Given the description of an element on the screen output the (x, y) to click on. 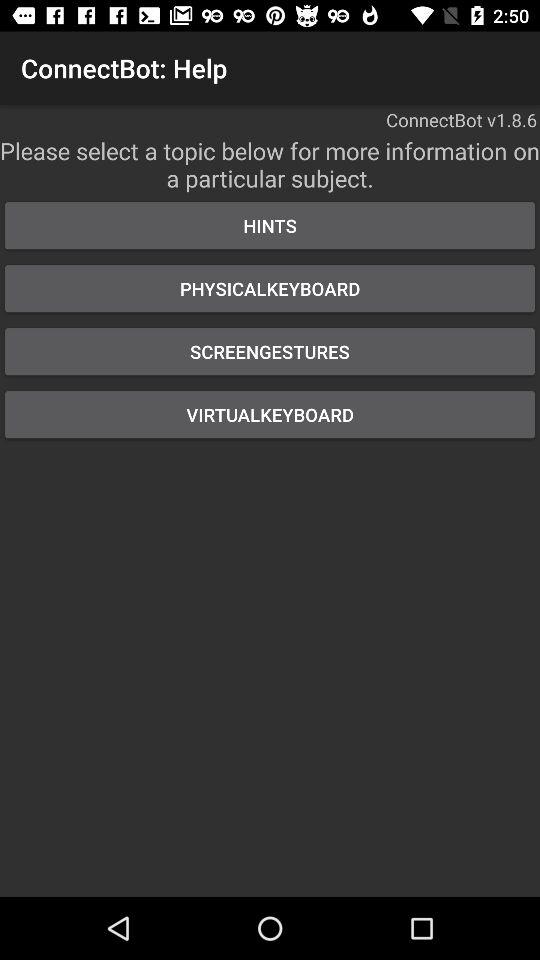
choose the item above the physicalkeyboard button (270, 225)
